Given the description of an element on the screen output the (x, y) to click on. 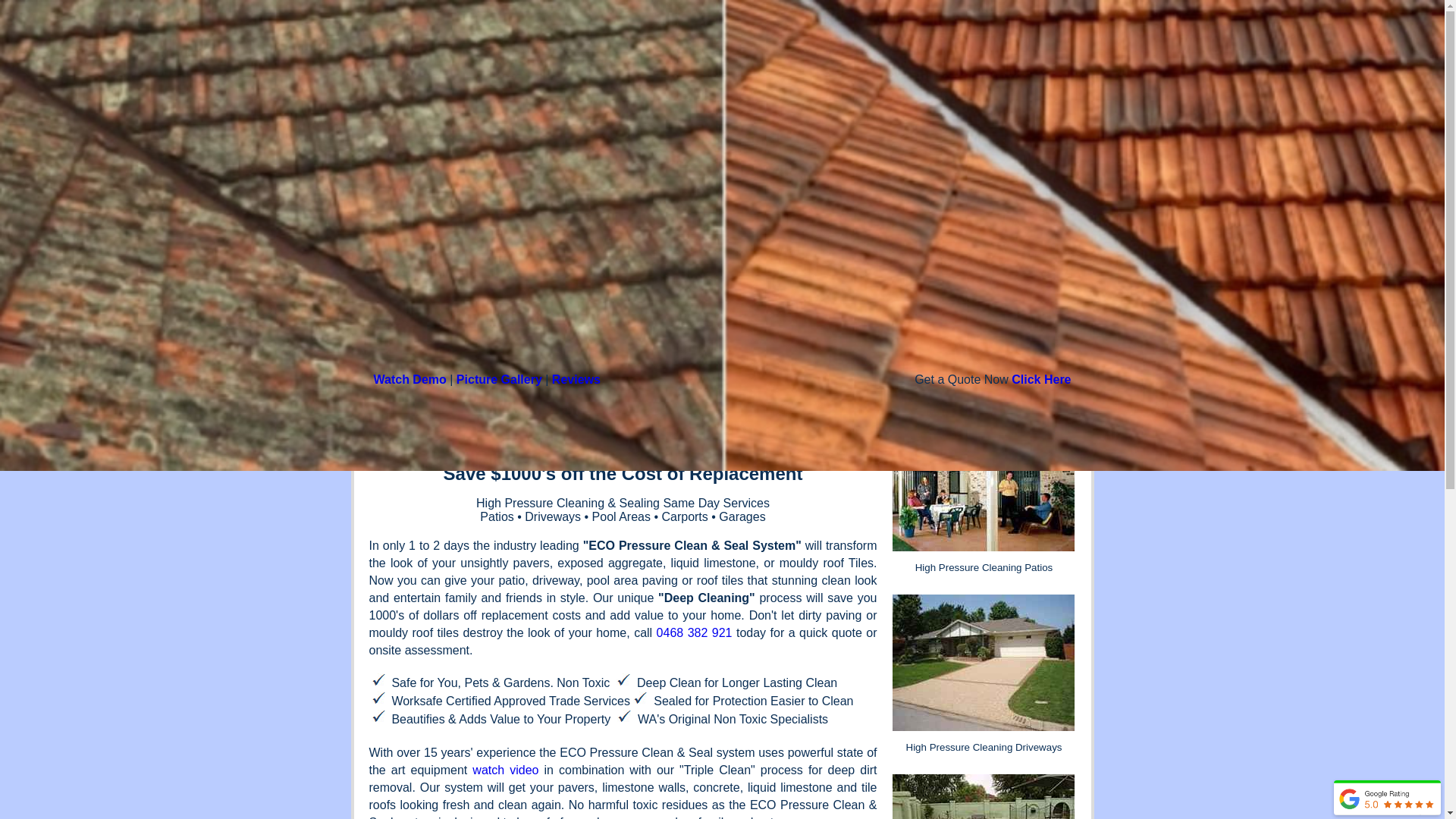
Contact Us Element type: text (1028, 94)
Roofs Element type: text (951, 94)
0468 382 921 Element type: text (694, 632)
Watch Demo Element type: text (409, 379)
Home Element type: text (672, 94)
High Pressure Cleaning Services Perth Element type: text (749, 64)
Picture Gallery Element type: text (499, 379)
Click Here Element type: text (1040, 379)
Reviews Element type: text (576, 379)
watch video Element type: text (505, 769)
Reviews Element type: text (880, 94)
Our Promise to You Element type: text (771, 94)
